Given the description of an element on the screen output the (x, y) to click on. 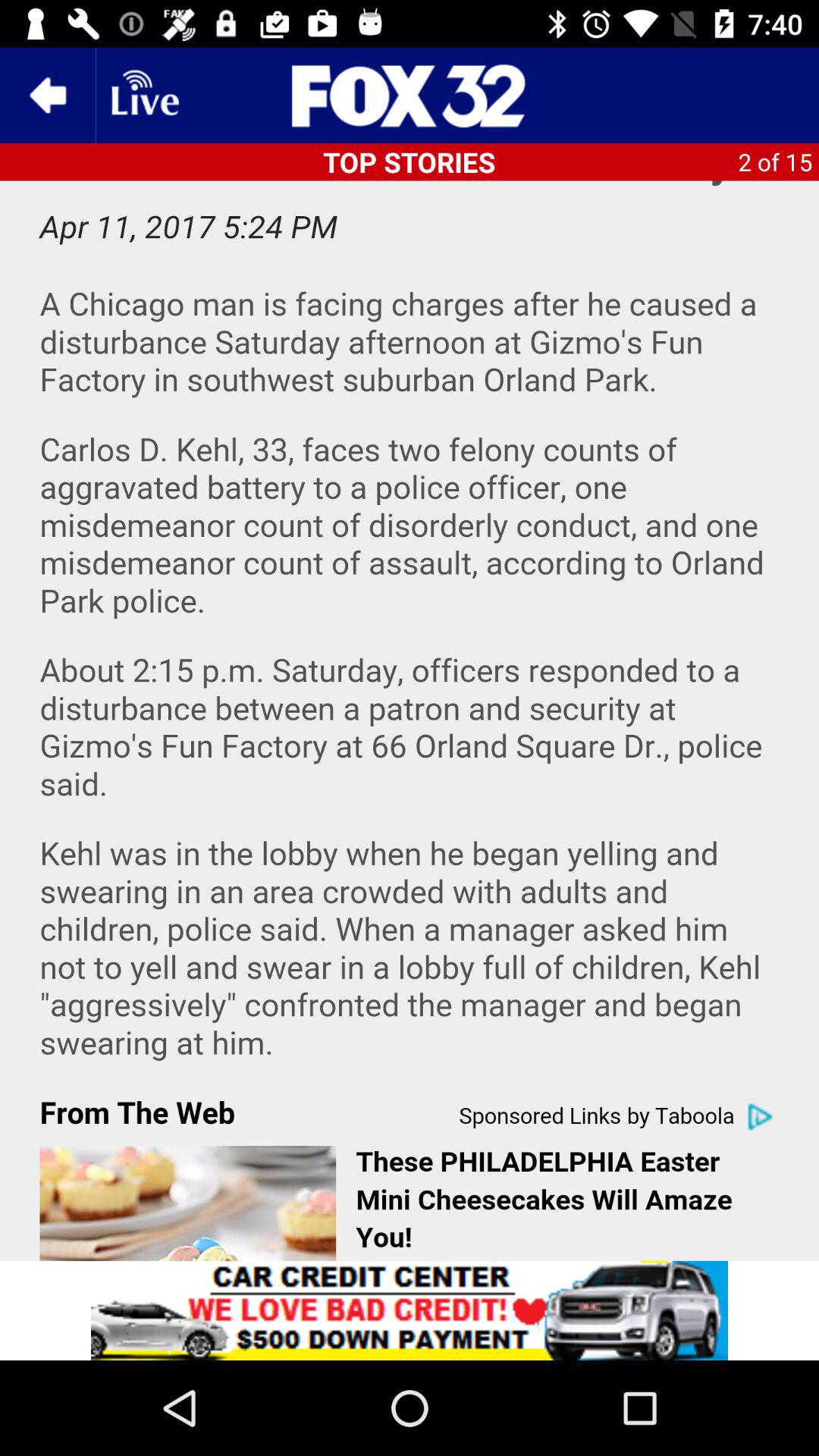
go to livestream (143, 95)
